Given the description of an element on the screen output the (x, y) to click on. 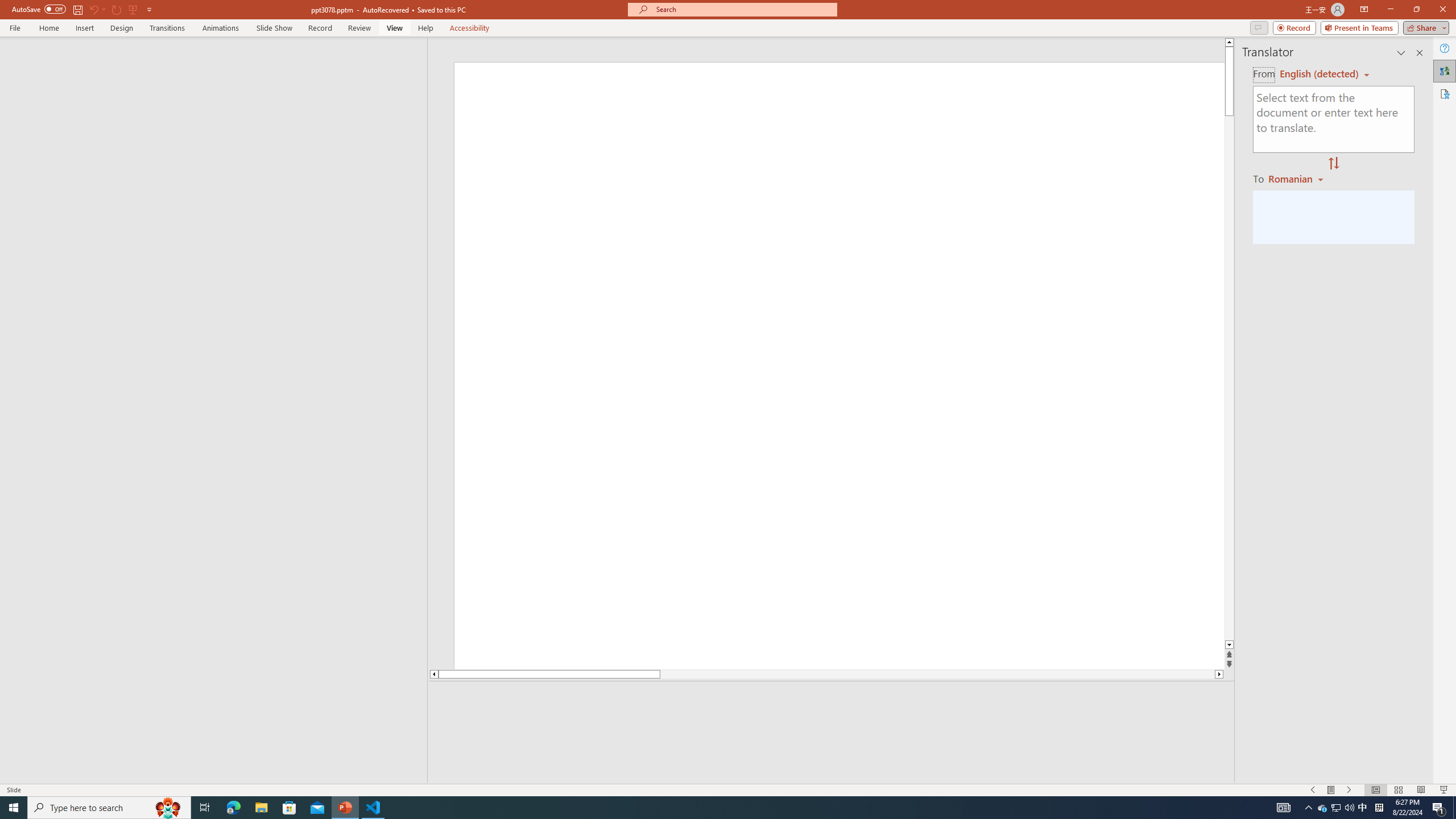
Romanian (1296, 178)
Czech (detected) (1319, 73)
